Given the description of an element on the screen output the (x, y) to click on. 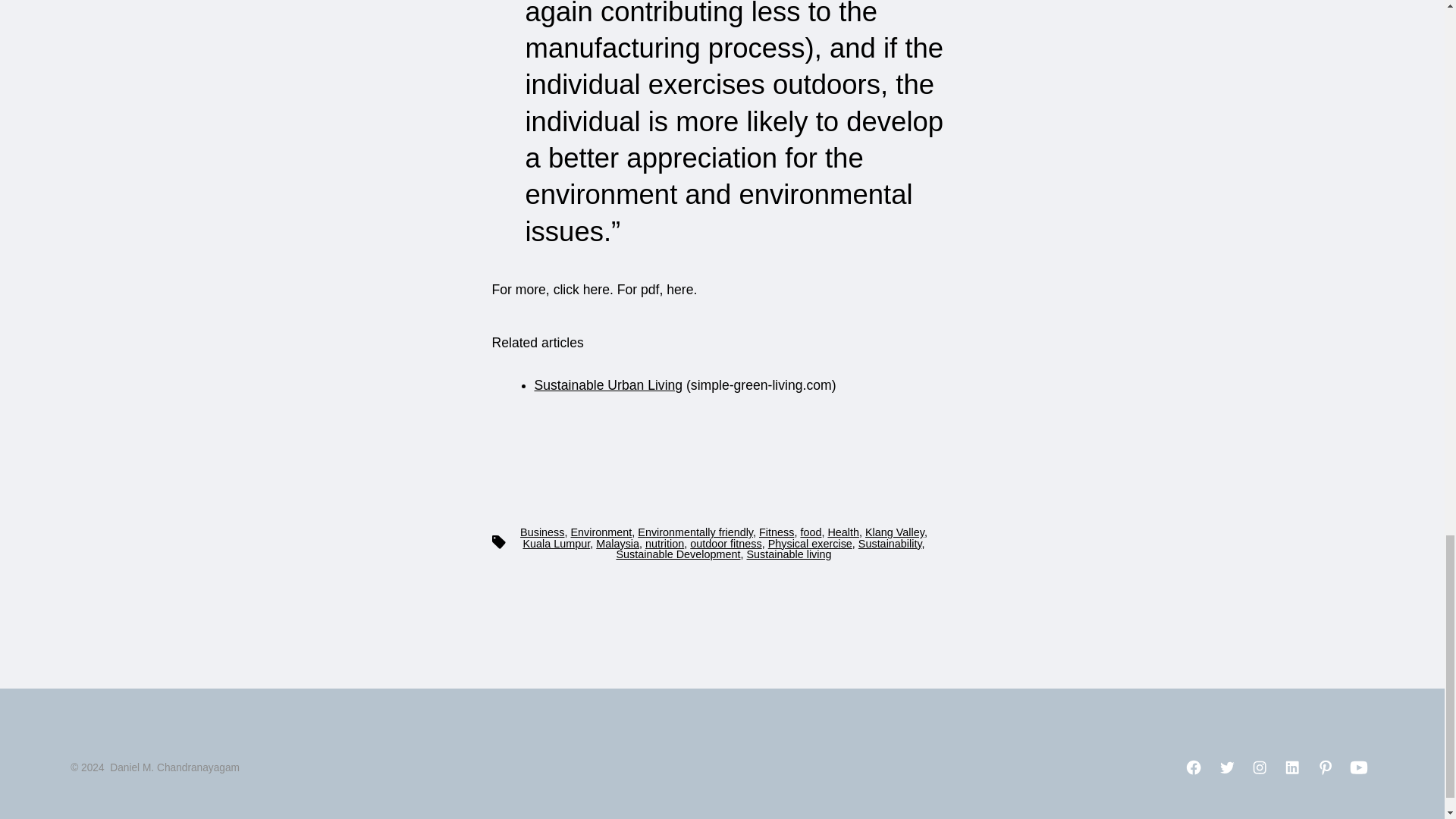
Sustainable Urban Living (608, 385)
Environment (600, 532)
Malaysia (617, 543)
Open Facebook in a new tab (1193, 767)
Sustainable Development (677, 553)
Klang Valley (894, 532)
Open YouTube in a new tab (1358, 767)
Business (541, 532)
food (810, 532)
Health (843, 532)
